Given the description of an element on the screen output the (x, y) to click on. 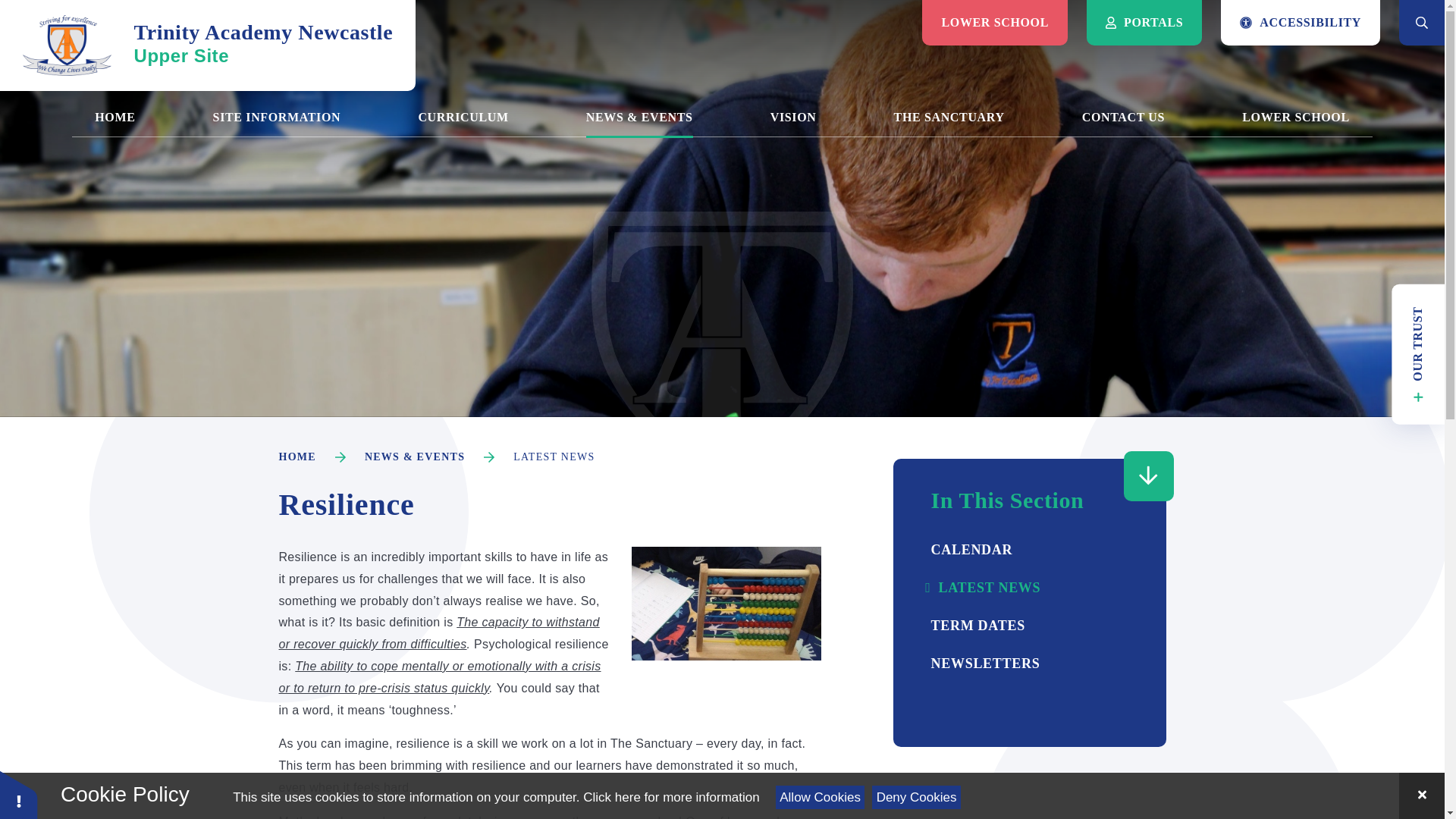
HOME (114, 117)
SITE INFORMATION (276, 117)
Allow Cookies (820, 797)
See cookie policy (207, 45)
Deny Cookies (670, 797)
